Given the description of an element on the screen output the (x, y) to click on. 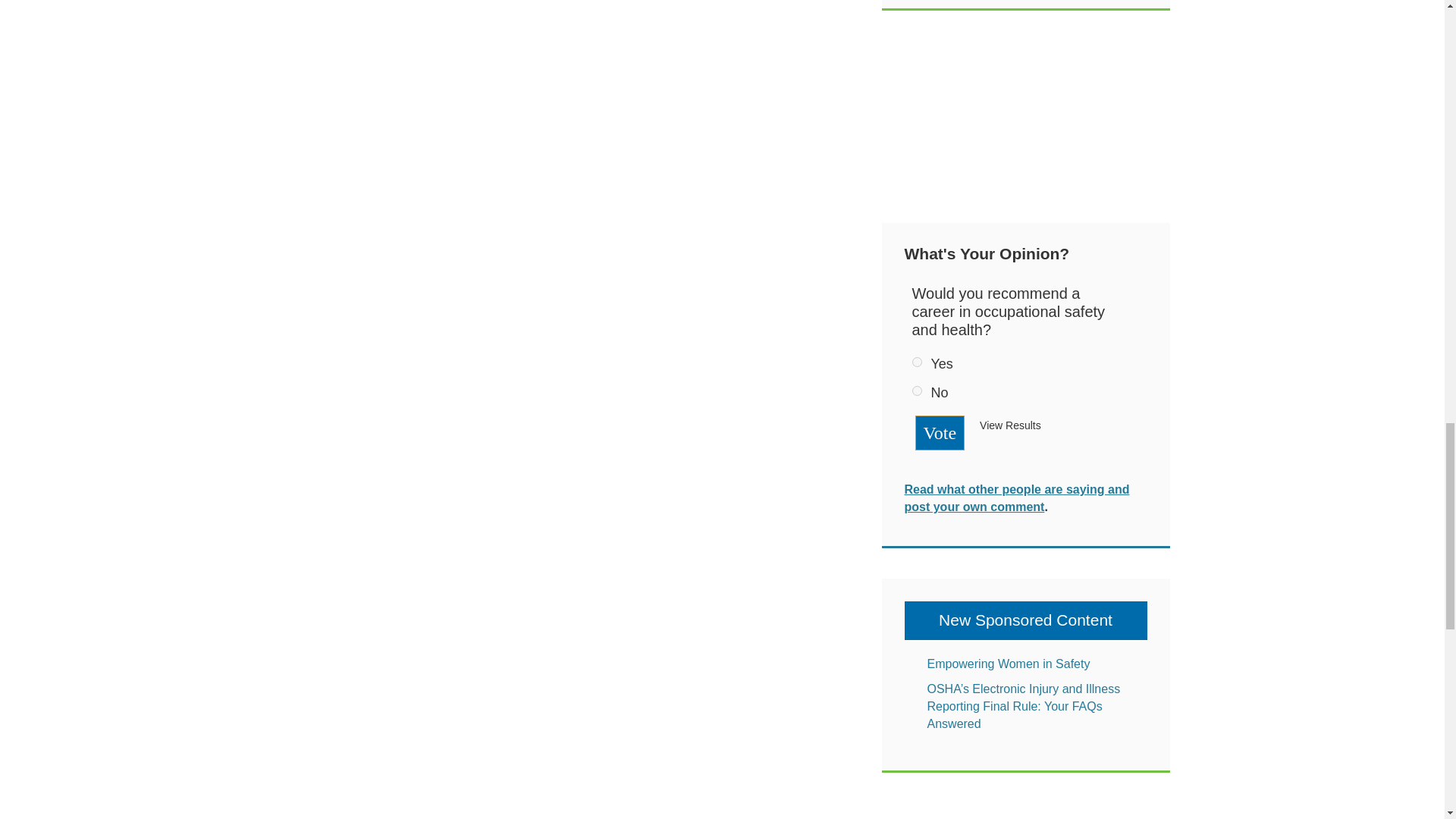
61339428 (916, 390)
61339427 (916, 361)
